Given the description of an element on the screen output the (x, y) to click on. 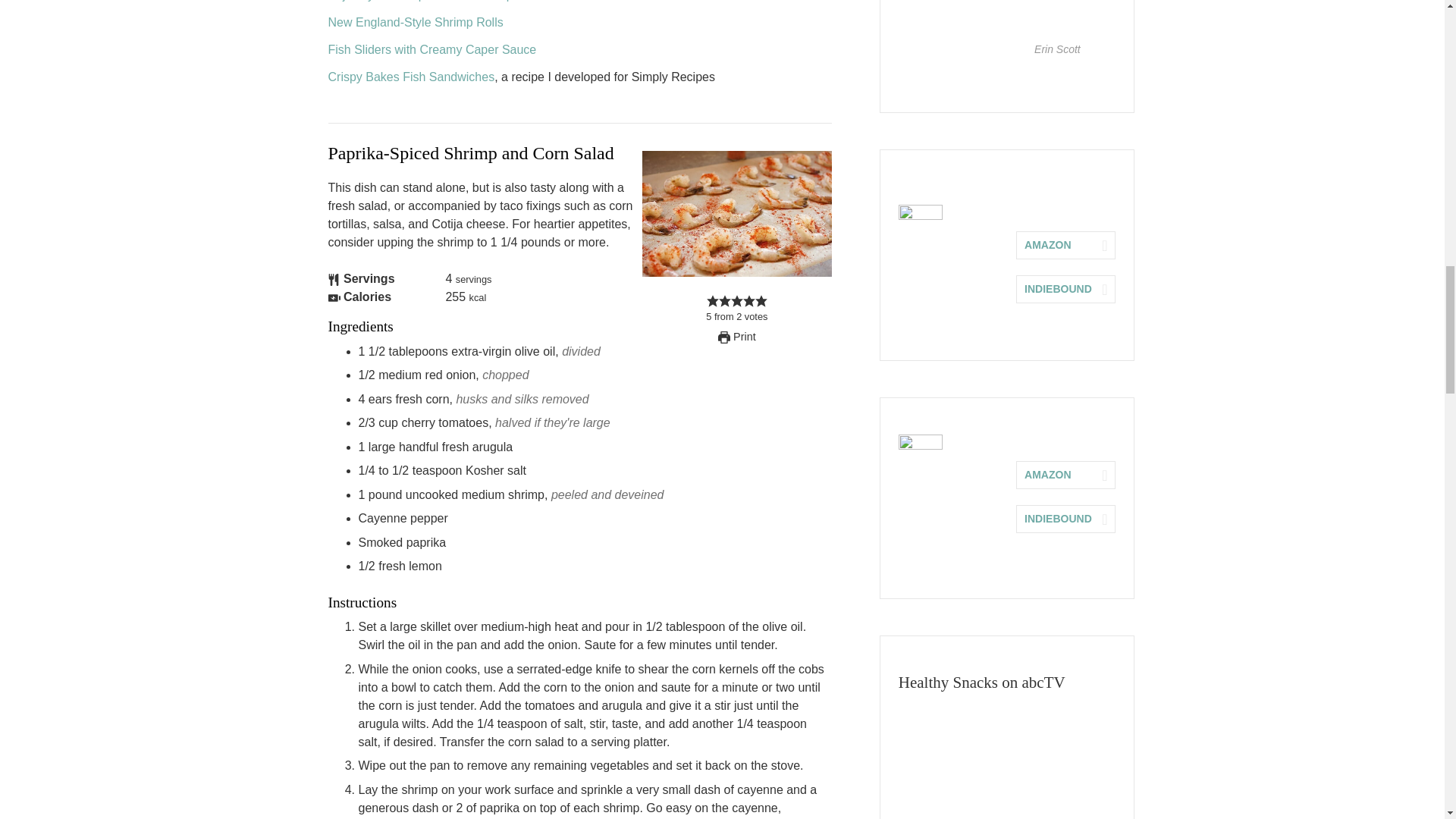
New England-Style Shrimp Rolls (414, 21)
Print (736, 336)
Fish Sliders with Creamy Caper Sauce (431, 49)
Crispy Bakes Fish Sandwiches (411, 76)
